Given the description of an element on the screen output the (x, y) to click on. 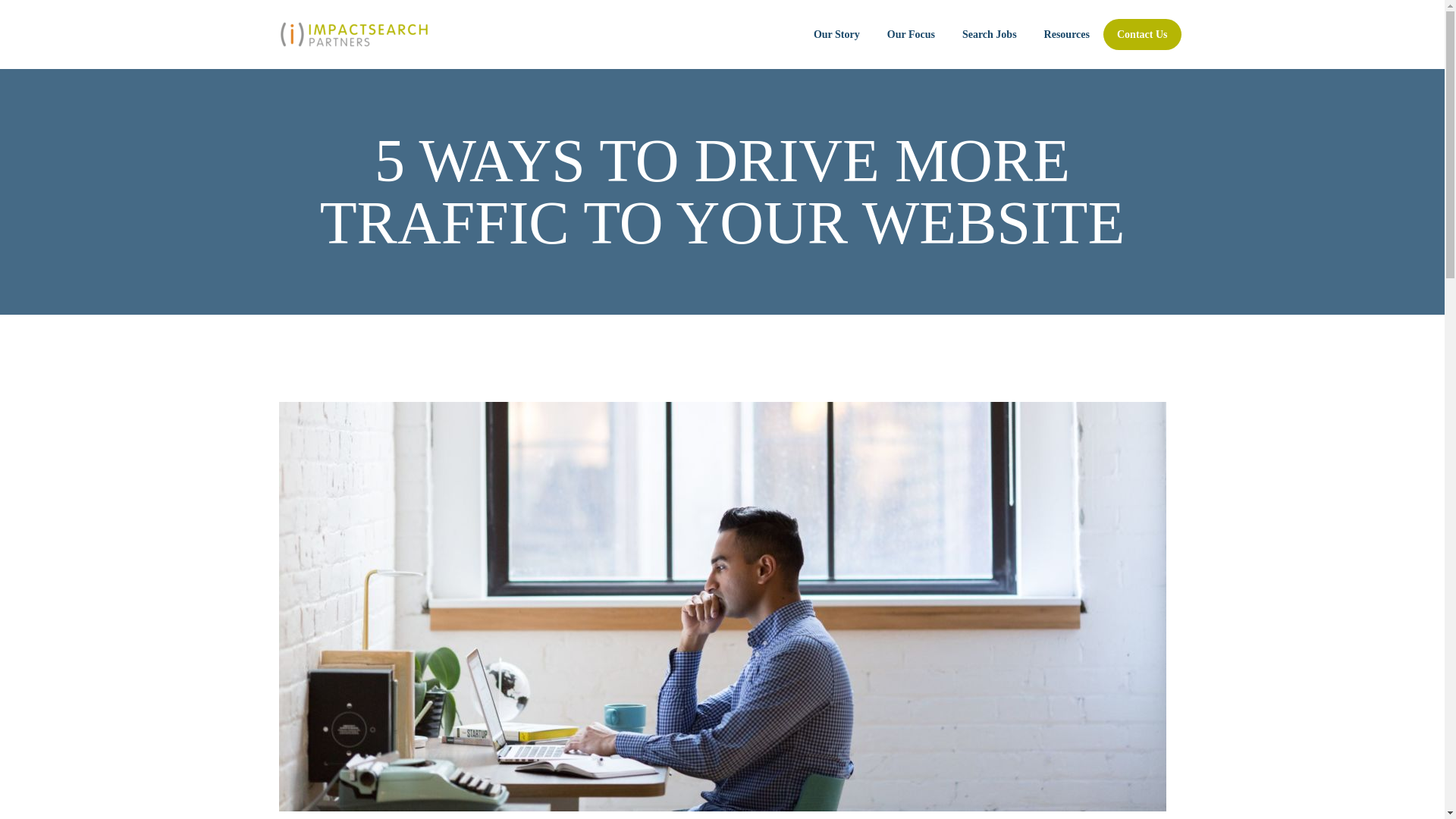
Our Story (836, 34)
Our Focus (911, 34)
Contact Us (1142, 34)
Resources (1066, 34)
Search Jobs (988, 34)
